Given the description of an element on the screen output the (x, y) to click on. 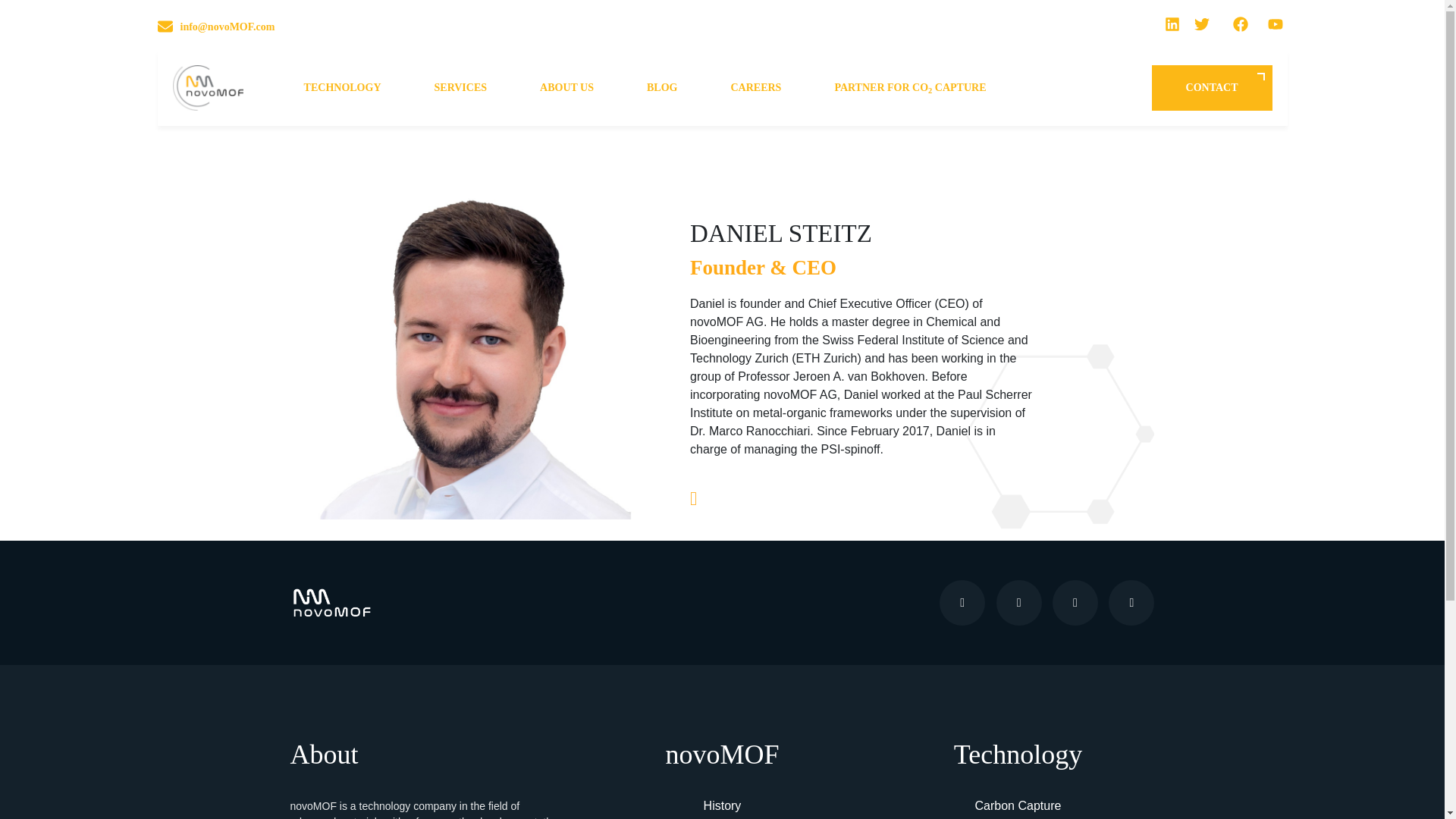
Page 8 (425, 808)
ABOUT US (566, 87)
TECHNOLOGY (342, 87)
SERVICES (460, 87)
CAREERS (755, 87)
Contact (1211, 87)
BLOG (662, 87)
